Given the description of an element on the screen output the (x, y) to click on. 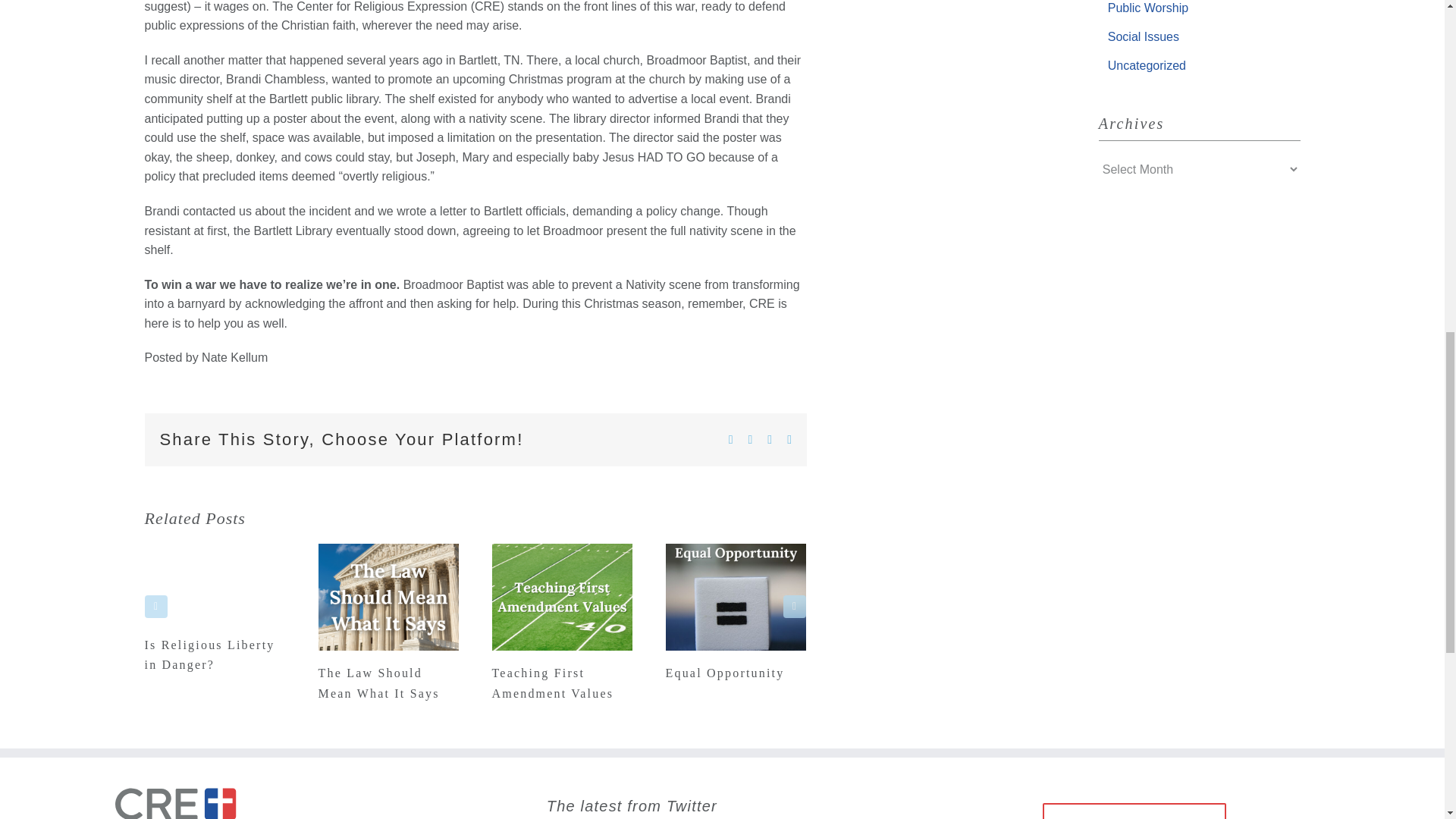
Teaching First Amendment Values (552, 682)
The Law Should Mean What It Says (378, 682)
Is Religious Liberty in Danger? (209, 654)
Equal Opportunity (724, 672)
